Given the description of an element on the screen output the (x, y) to click on. 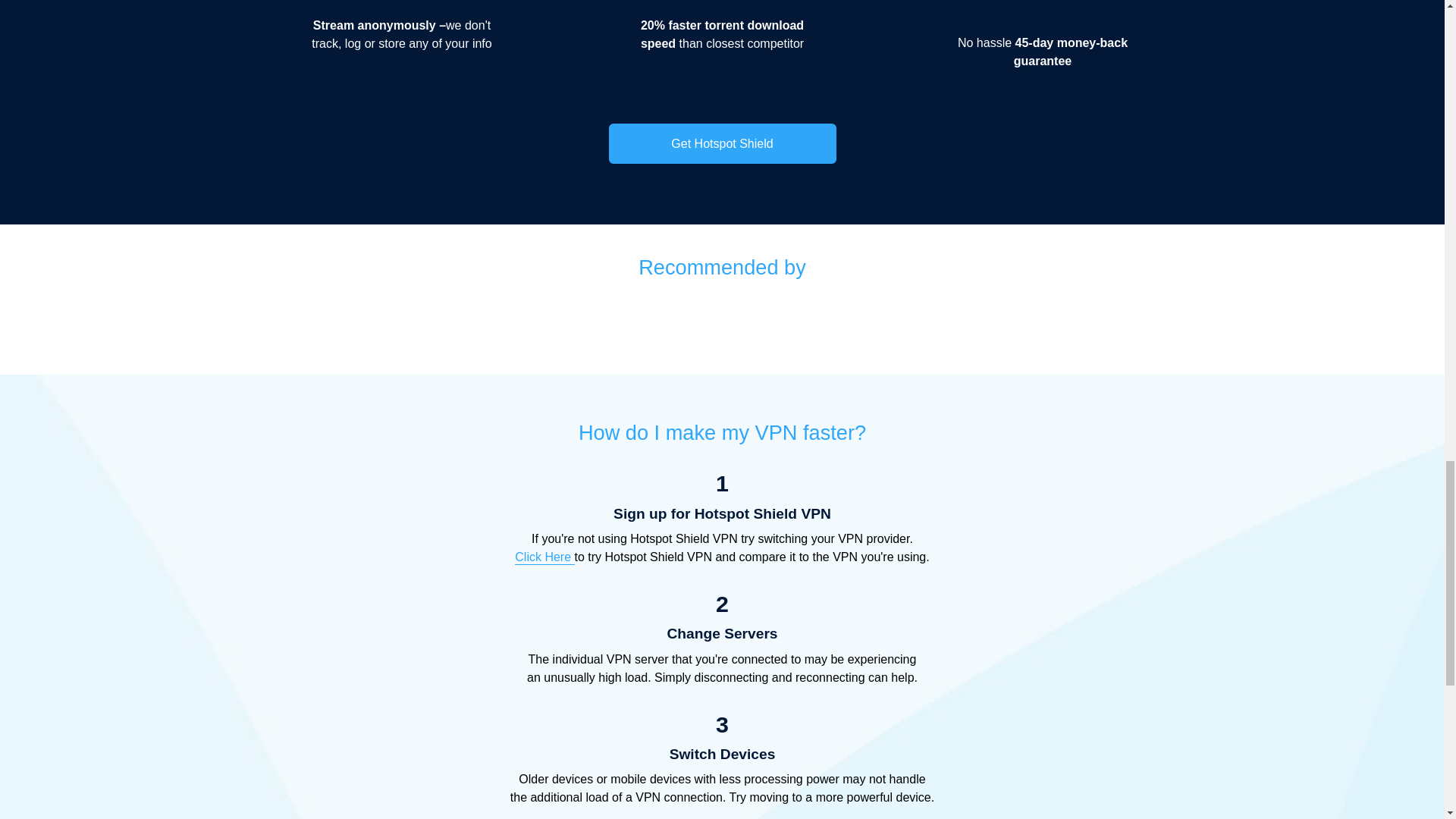
Get Hotspot Shield (721, 143)
Click Here  (544, 557)
